Given the description of an element on the screen output the (x, y) to click on. 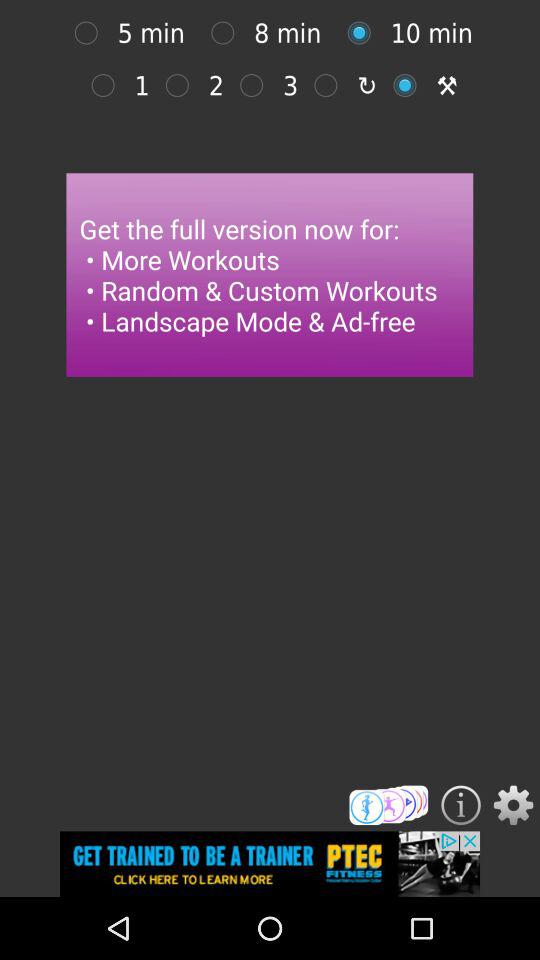
get information (460, 805)
